Given the description of an element on the screen output the (x, y) to click on. 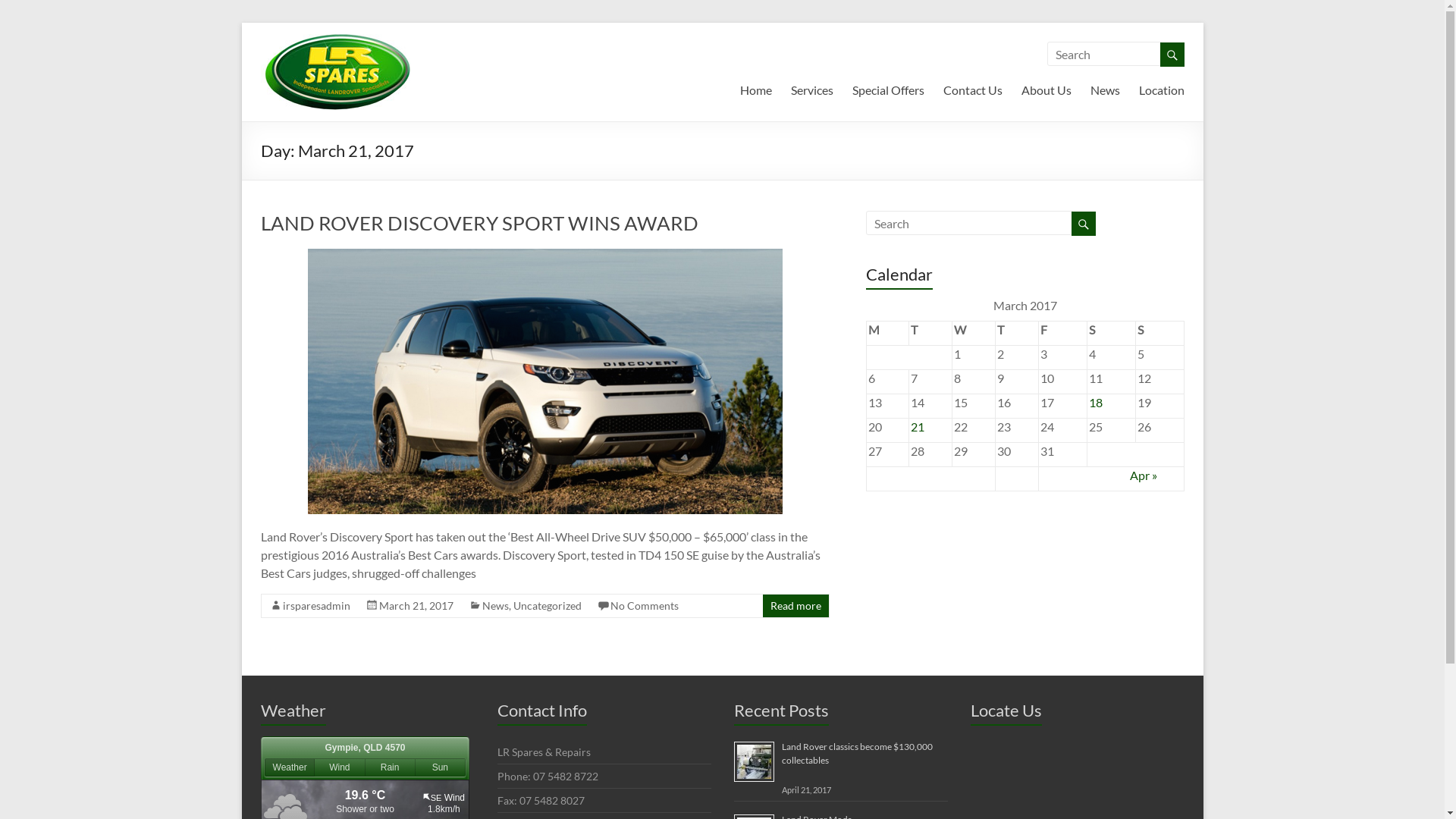
News Element type: text (495, 605)
Uncategorized Element type: text (546, 605)
LAND ROVER DISCOVERY SPORT WINS AWARD Element type: hover (544, 381)
Special Offers Element type: text (888, 86)
Contact Us Element type: text (972, 86)
Services Element type: text (811, 86)
Location Element type: text (1161, 86)
Home Element type: text (755, 86)
March 21, 2017 Element type: text (416, 605)
News Element type: text (1105, 86)
LAND ROVER DISCOVERY SPORT WINS AWARD Element type: hover (544, 255)
21 Element type: text (917, 425)
No Comments Element type: text (643, 605)
LAND ROVER DISCOVERY SPORT WINS AWARD Element type: text (479, 222)
About Us Element type: text (1045, 86)
Read more Element type: text (795, 605)
irsparesadmin Element type: text (315, 605)
Land Rover classics become $130,000 collectables Element type: text (856, 752)
18 Element type: text (1095, 401)
